Given the description of an element on the screen output the (x, y) to click on. 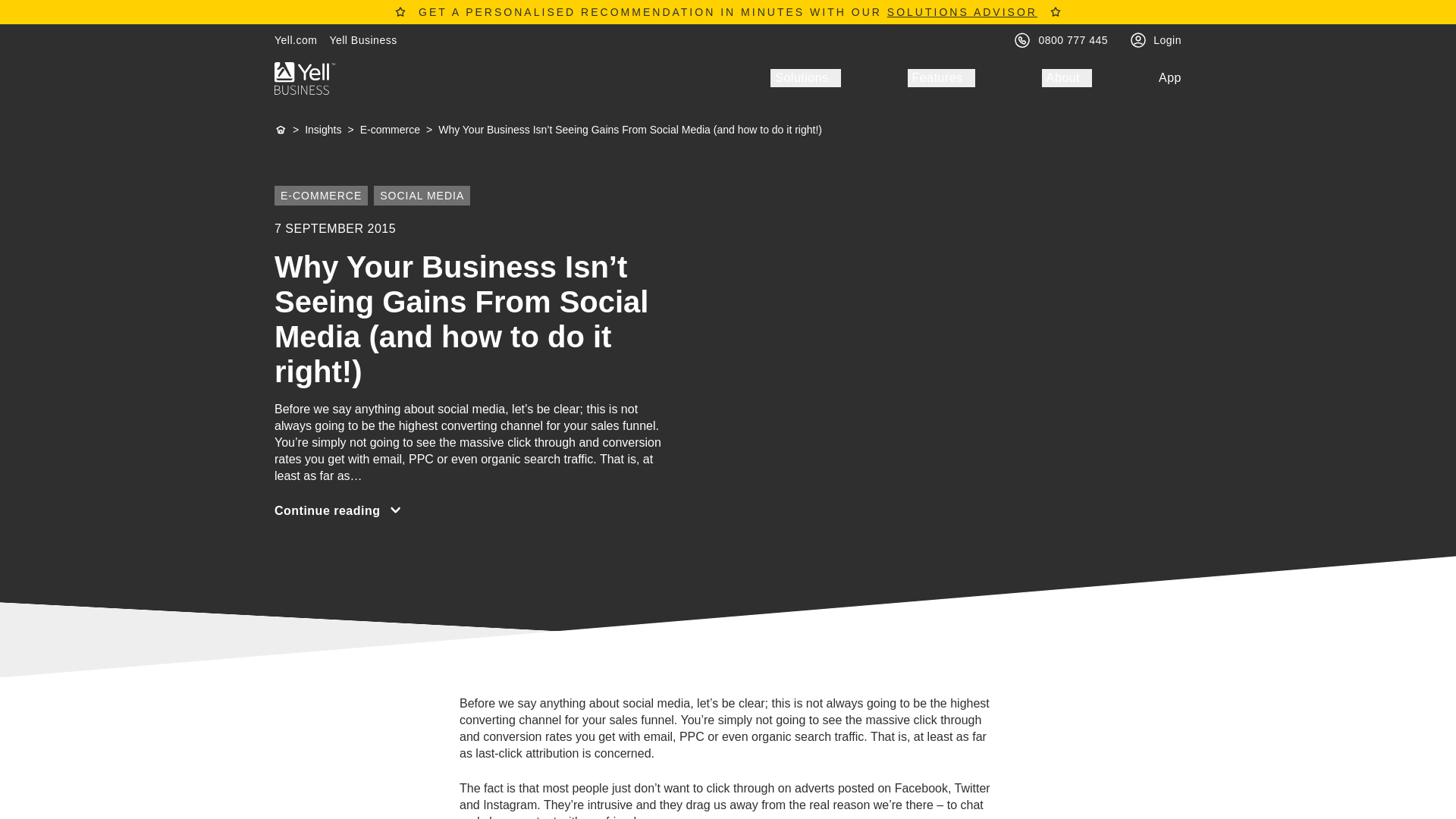
Login (1166, 39)
Solutions (805, 77)
Yell Business (362, 39)
SOLUTIONS ADVISOR (961, 11)
0800 777 445 (1073, 39)
Yell.com (296, 39)
About (1067, 77)
Features (941, 77)
